Given the description of an element on the screen output the (x, y) to click on. 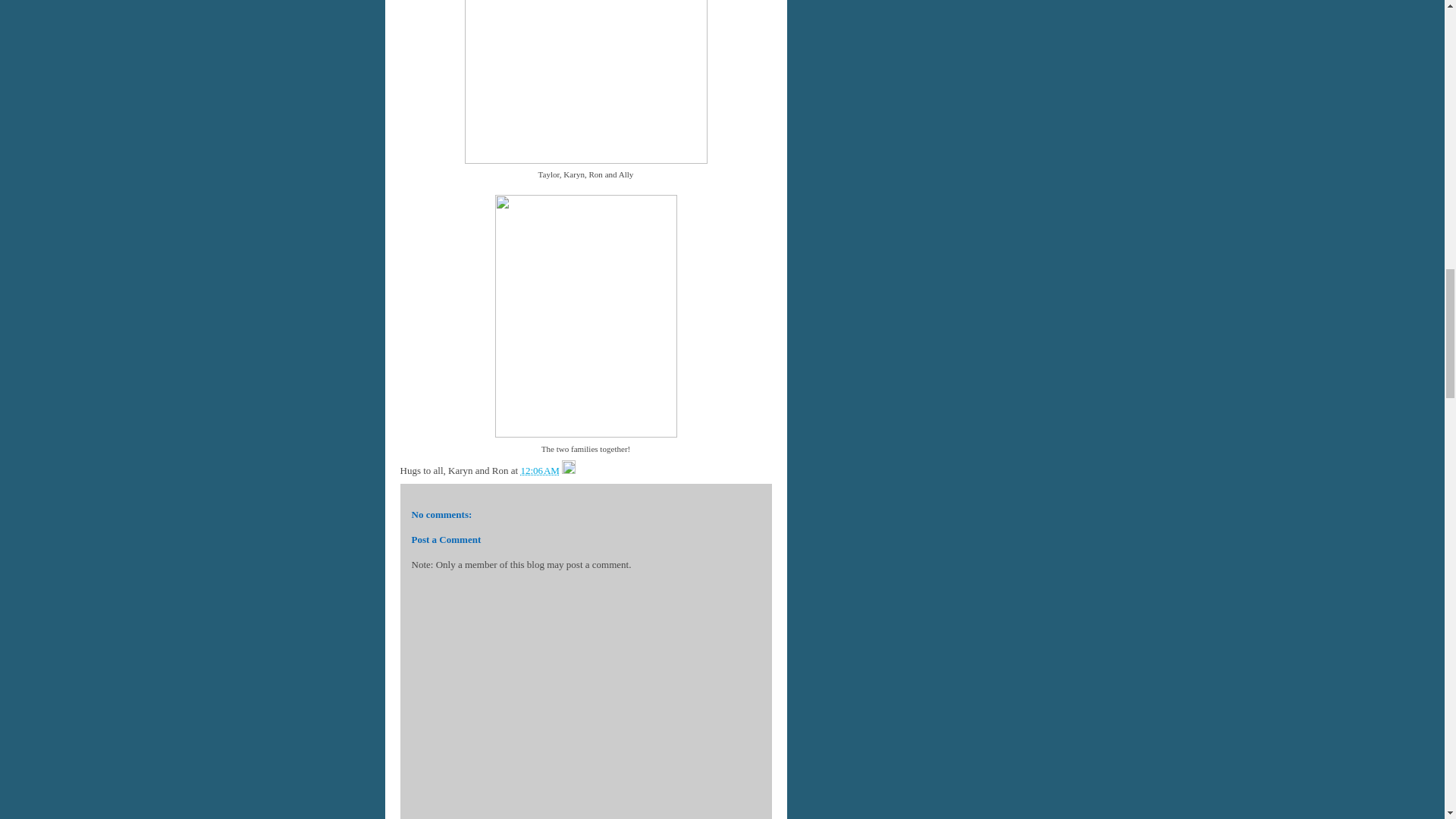
Edit Post (568, 470)
permanent link (539, 470)
